Given the description of an element on the screen output the (x, y) to click on. 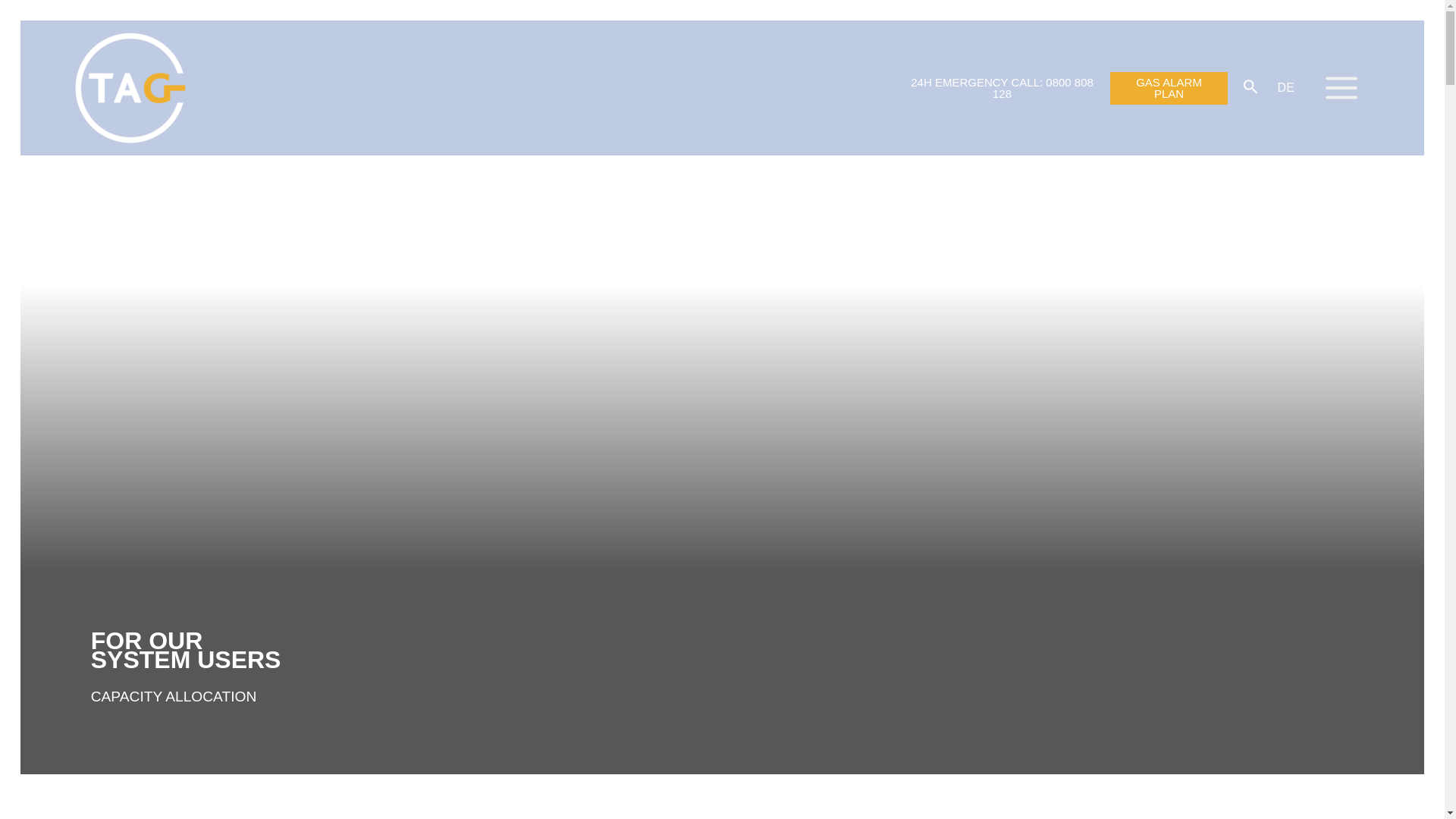
GAS ALARM PLAN (1168, 88)
Main Menu (1341, 87)
24H EMERGENCY CALL: 0800 808 128 (1001, 88)
